Given the description of an element on the screen output the (x, y) to click on. 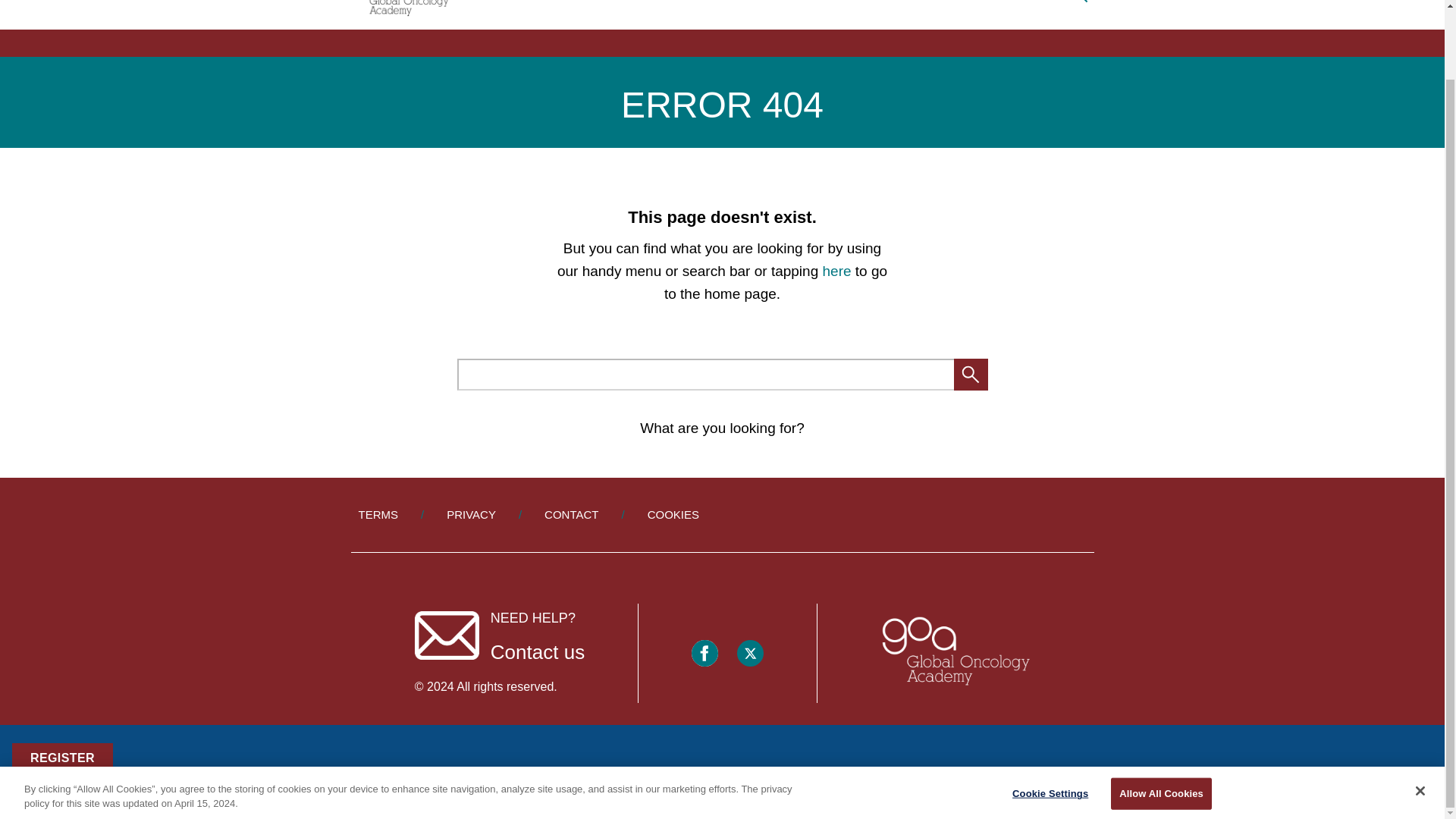
Global Oncology Academy (953, 653)
ALL PROGRAMS (1004, 0)
COMMUNITY (905, 0)
Global Oncology Academy (953, 652)
Twitter (749, 652)
Global Oncology Academy (399, 10)
Share Program (68, 719)
NEWS (712, 0)
